Given the description of an element on the screen output the (x, y) to click on. 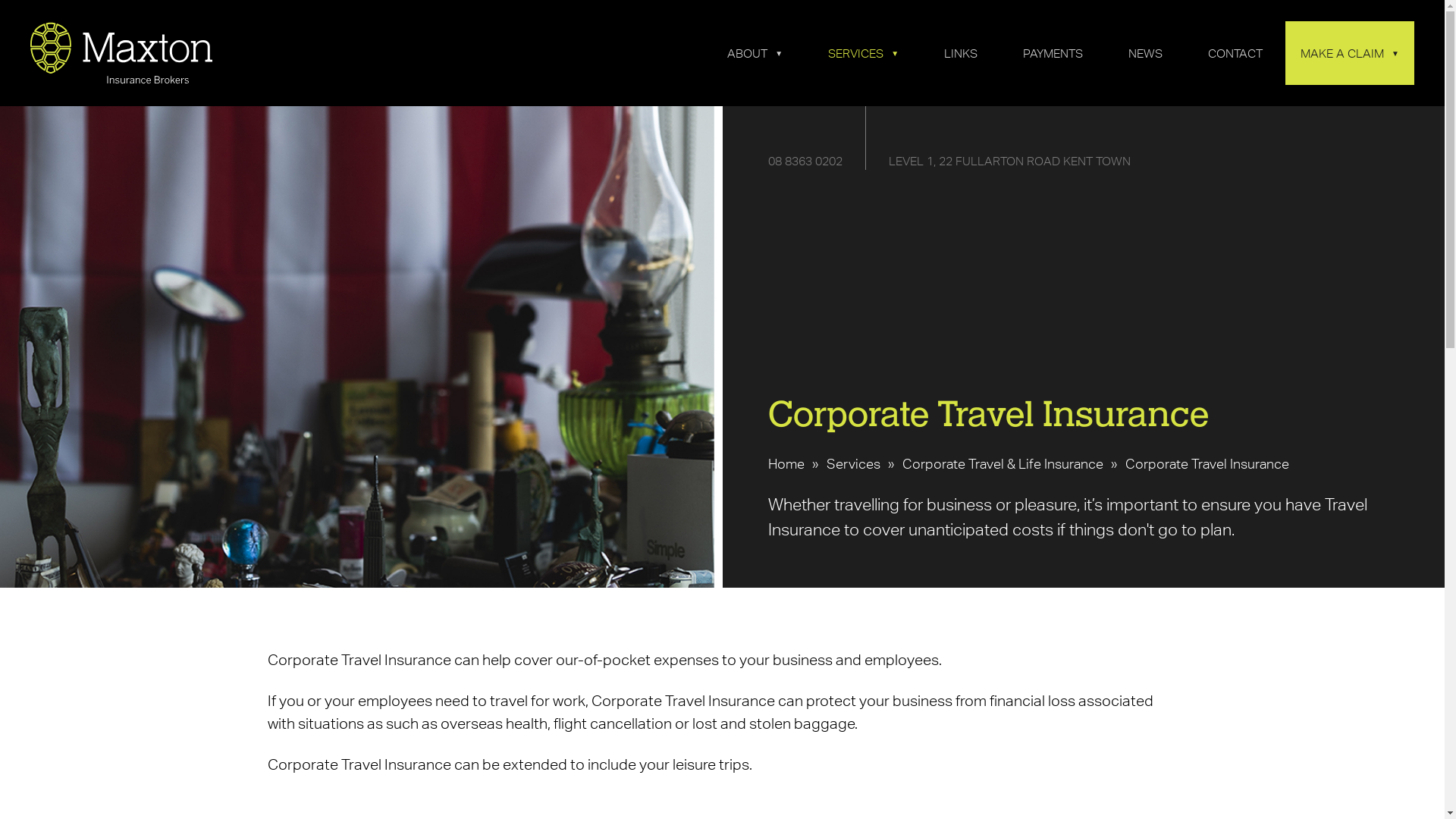
NEWS Element type: text (1145, 52)
CONTACT Element type: text (1235, 52)
Home Element type: text (785, 463)
PAYMENTS Element type: text (1052, 52)
08 8363 0202 Element type: text (804, 160)
Services Element type: text (853, 463)
Corporate Travel & Life Insurance Element type: text (1002, 463)
SERVICES Element type: text (863, 52)
ABOUT Element type: text (754, 52)
LINKS Element type: text (960, 52)
MAKE A CLAIM Element type: text (1349, 52)
LEVEL 1, 22 FULLARTON ROAD KENT TOWN Element type: text (1009, 160)
